Given the description of an element on the screen output the (x, y) to click on. 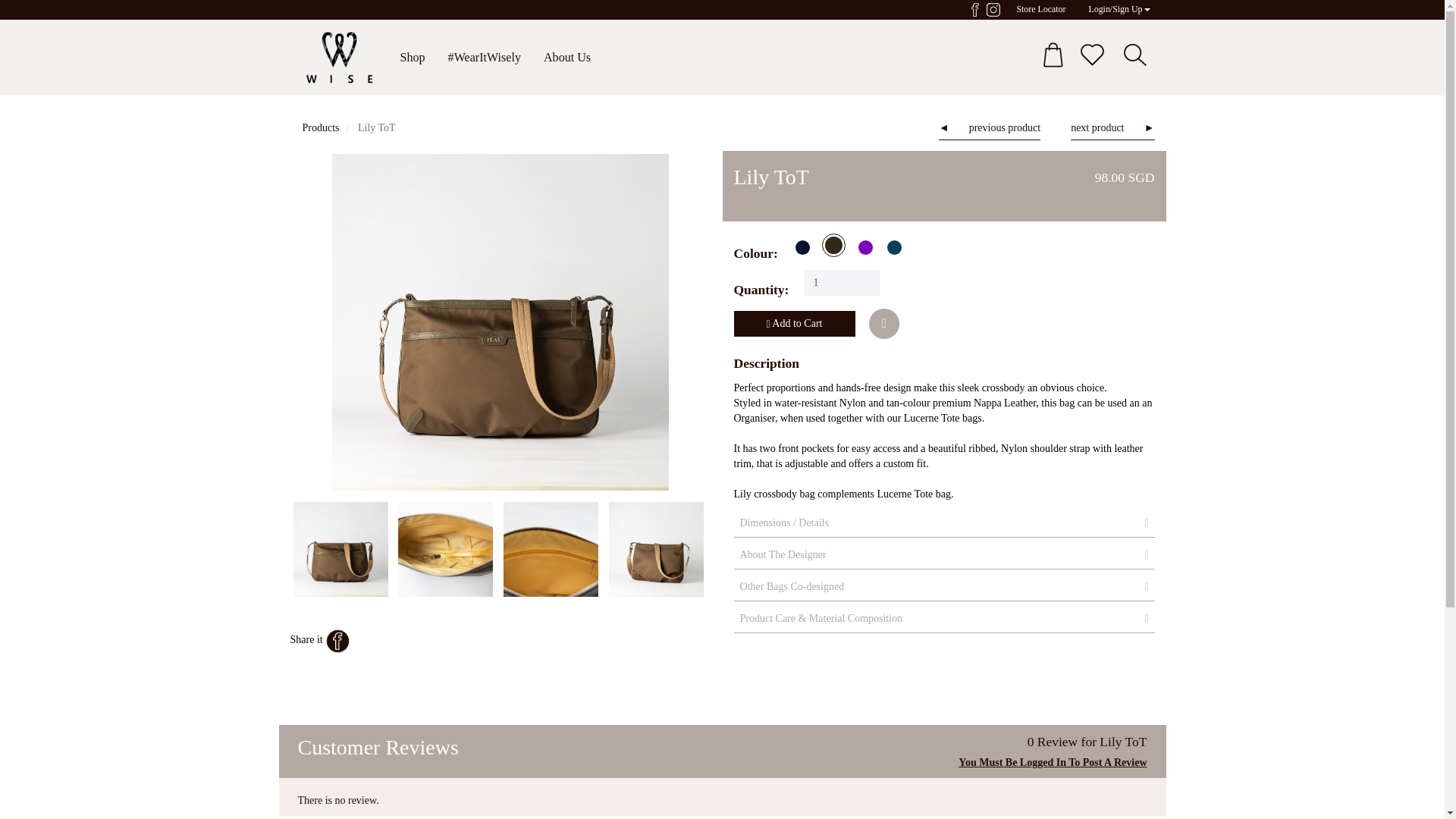
Other Bags Co-designed (943, 586)
Products (320, 127)
You Must Be Logged In To Post A Review (1052, 762)
About Us (567, 57)
Olive (833, 245)
Add to Cart (794, 323)
Purple (865, 247)
teal (894, 247)
About The Designer (943, 554)
Store Locator (1045, 9)
Shop (411, 57)
Navy Blue (802, 247)
1 (841, 282)
